Given the description of an element on the screen output the (x, y) to click on. 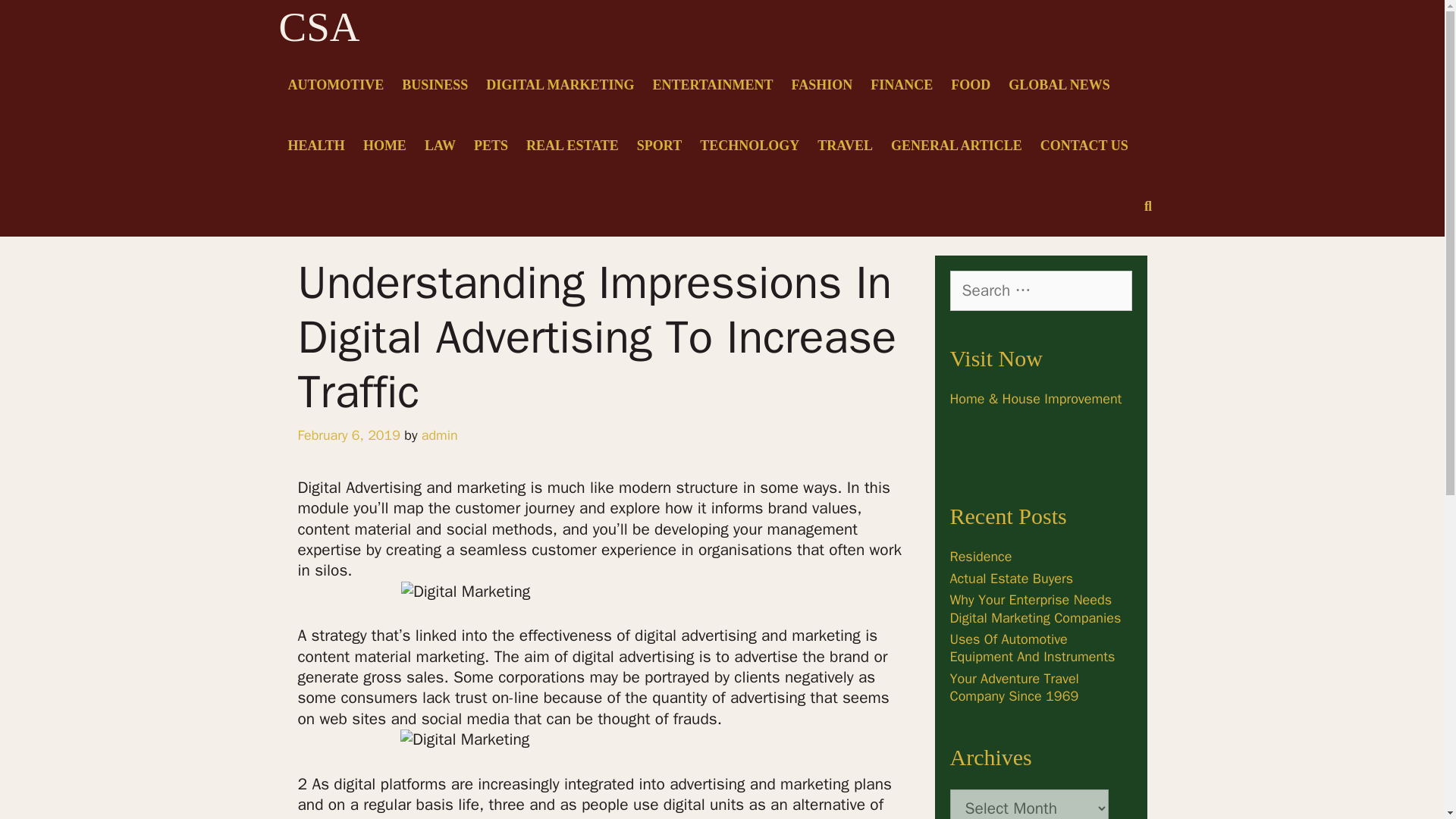
Search for: (1040, 290)
CONTACT US (1083, 145)
CSA (319, 26)
BUSINESS (435, 84)
FOOD (970, 84)
ENTERTAINMENT (712, 84)
SPORT (658, 145)
7:10 am (347, 434)
AUTOMOTIVE (336, 84)
Actual Estate Buyers (1011, 578)
DIGITAL MARKETING (560, 84)
GENERAL ARTICLE (956, 145)
TECHNOLOGY (749, 145)
Why Your Enterprise Needs Digital Marketing Companies (1035, 608)
